Given the description of an element on the screen output the (x, y) to click on. 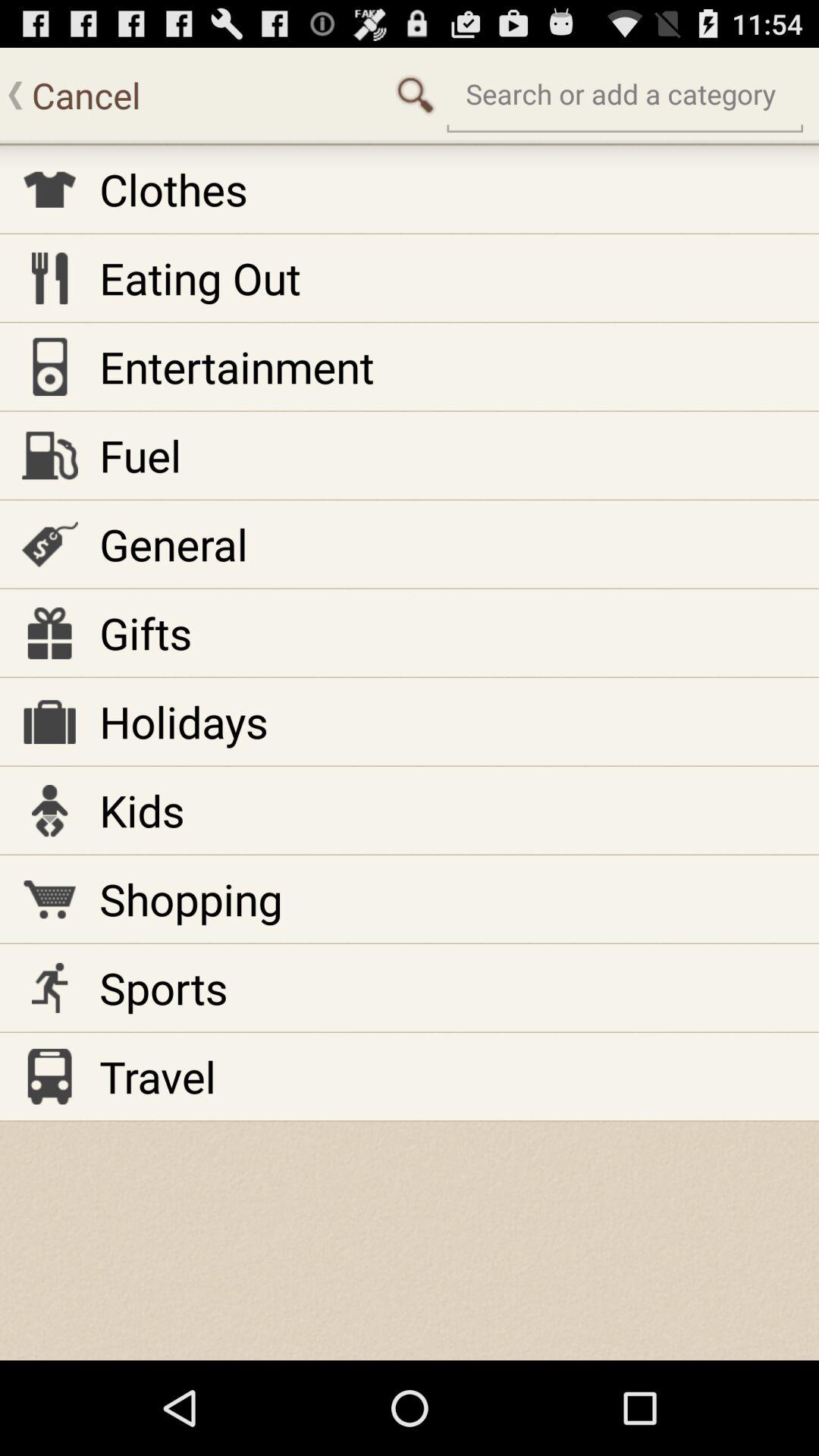
launch the app above the shopping item (141, 810)
